Given the description of an element on the screen output the (x, y) to click on. 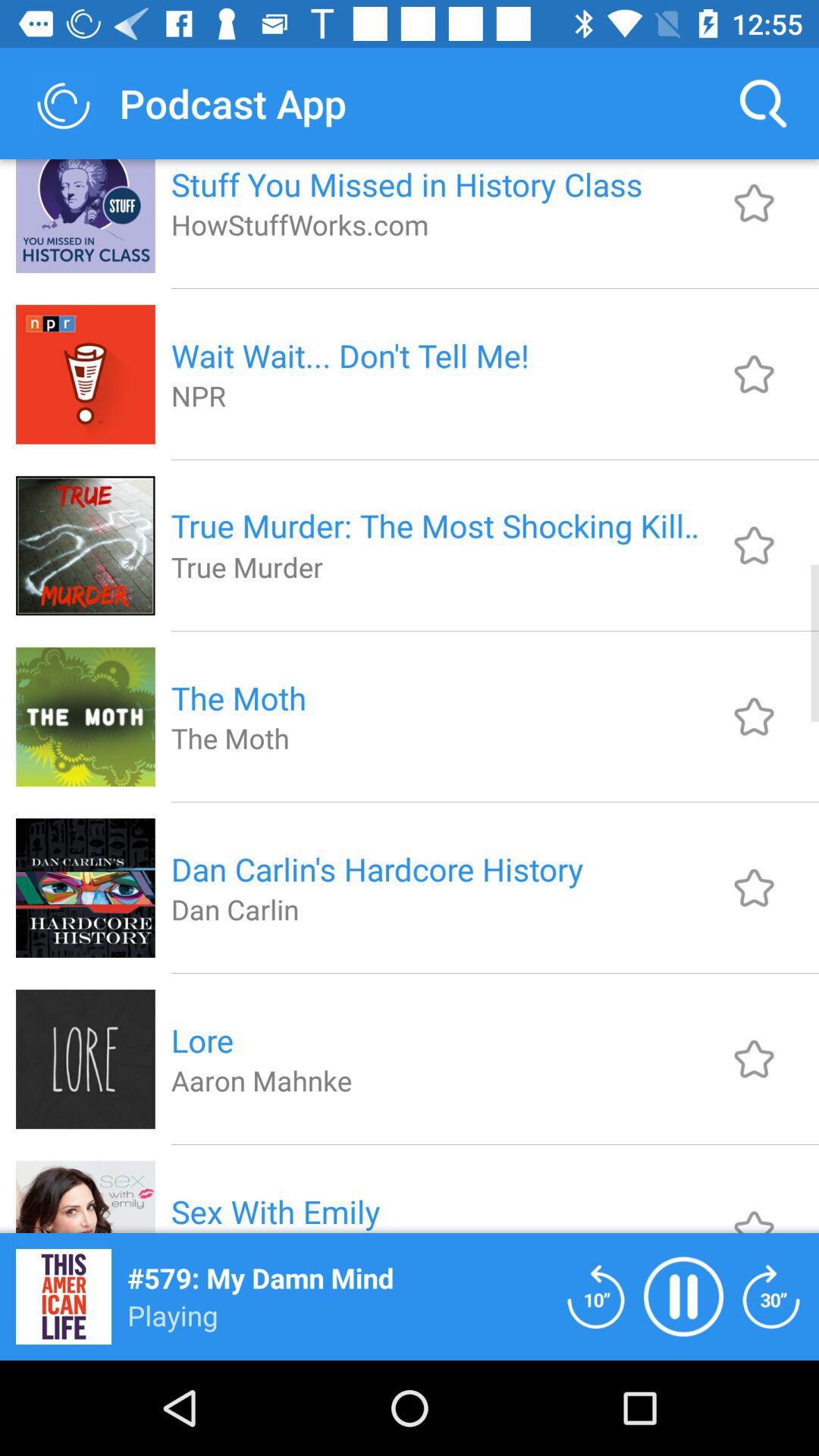
favourite option (754, 887)
